Given the description of an element on the screen output the (x, y) to click on. 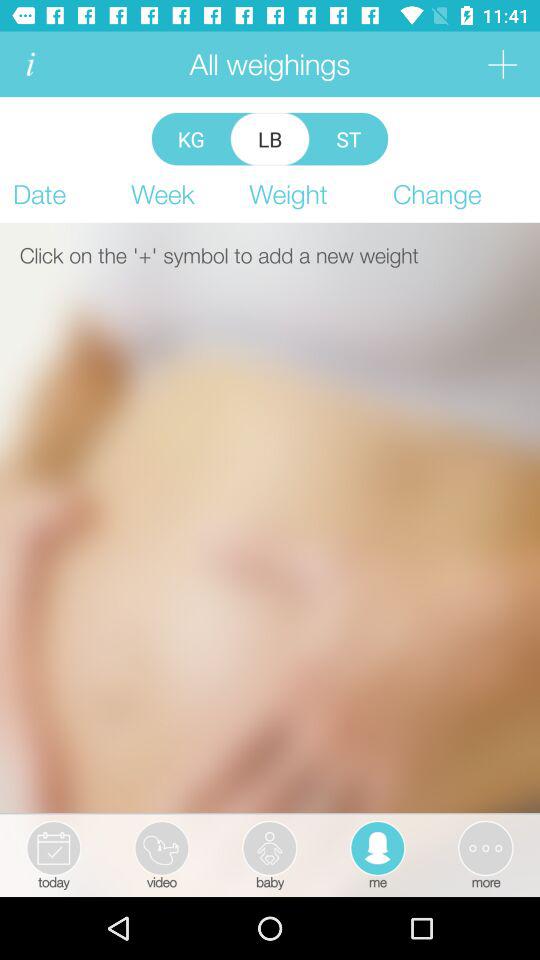
add a new weight (502, 63)
